Given the description of an element on the screen output the (x, y) to click on. 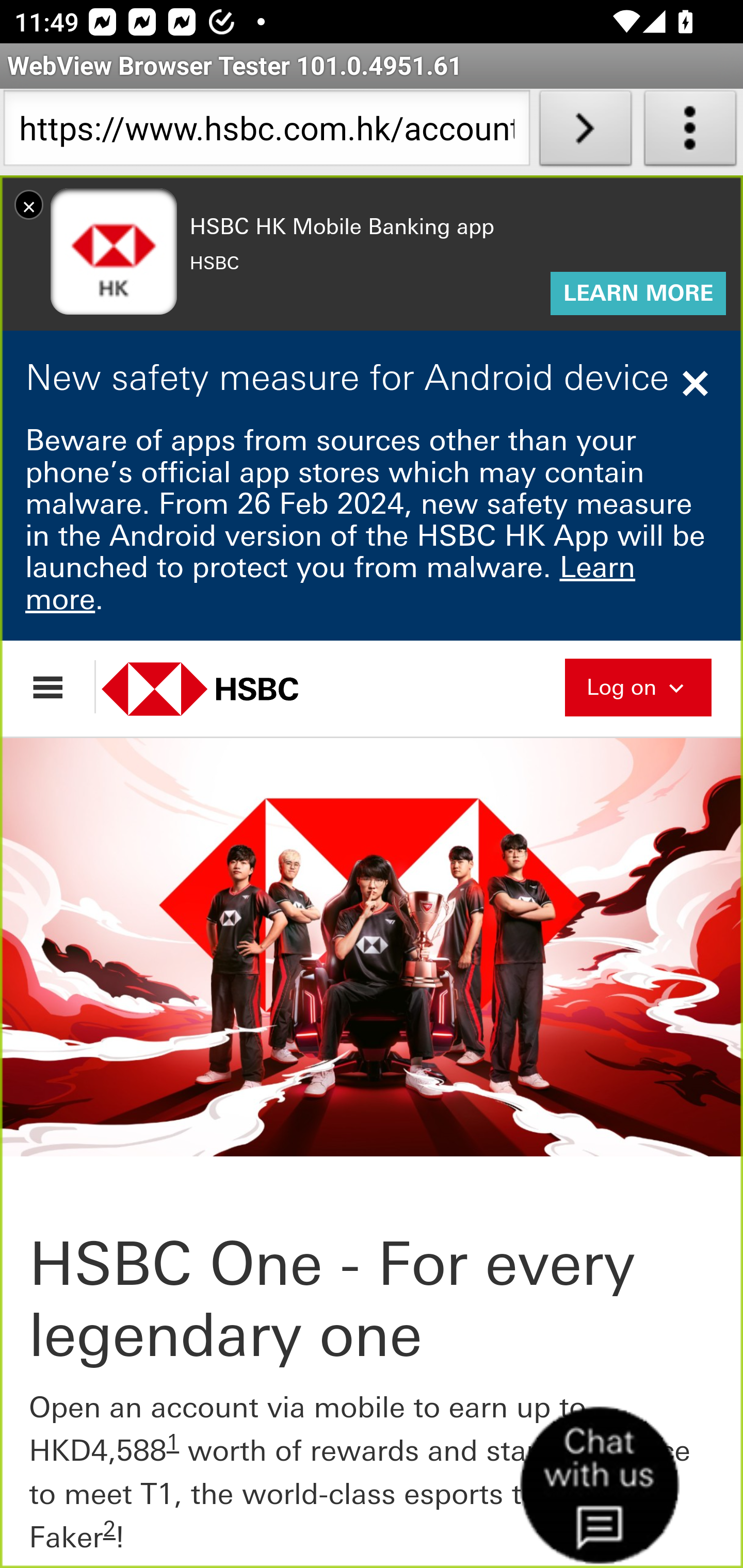
Load URL (585, 132)
About WebView (690, 132)
X (29, 204)
LEARN MORE (638, 293)
Close (697, 382)
Learn more (331, 582)
Log on Collapsed (638, 685)
Open menu (57, 686)
HSBC Hong Kong Bank (221, 688)
Footnote link 1 (173, 1442)
Footnote link 2 (109, 1529)
